Given the description of an element on the screen output the (x, y) to click on. 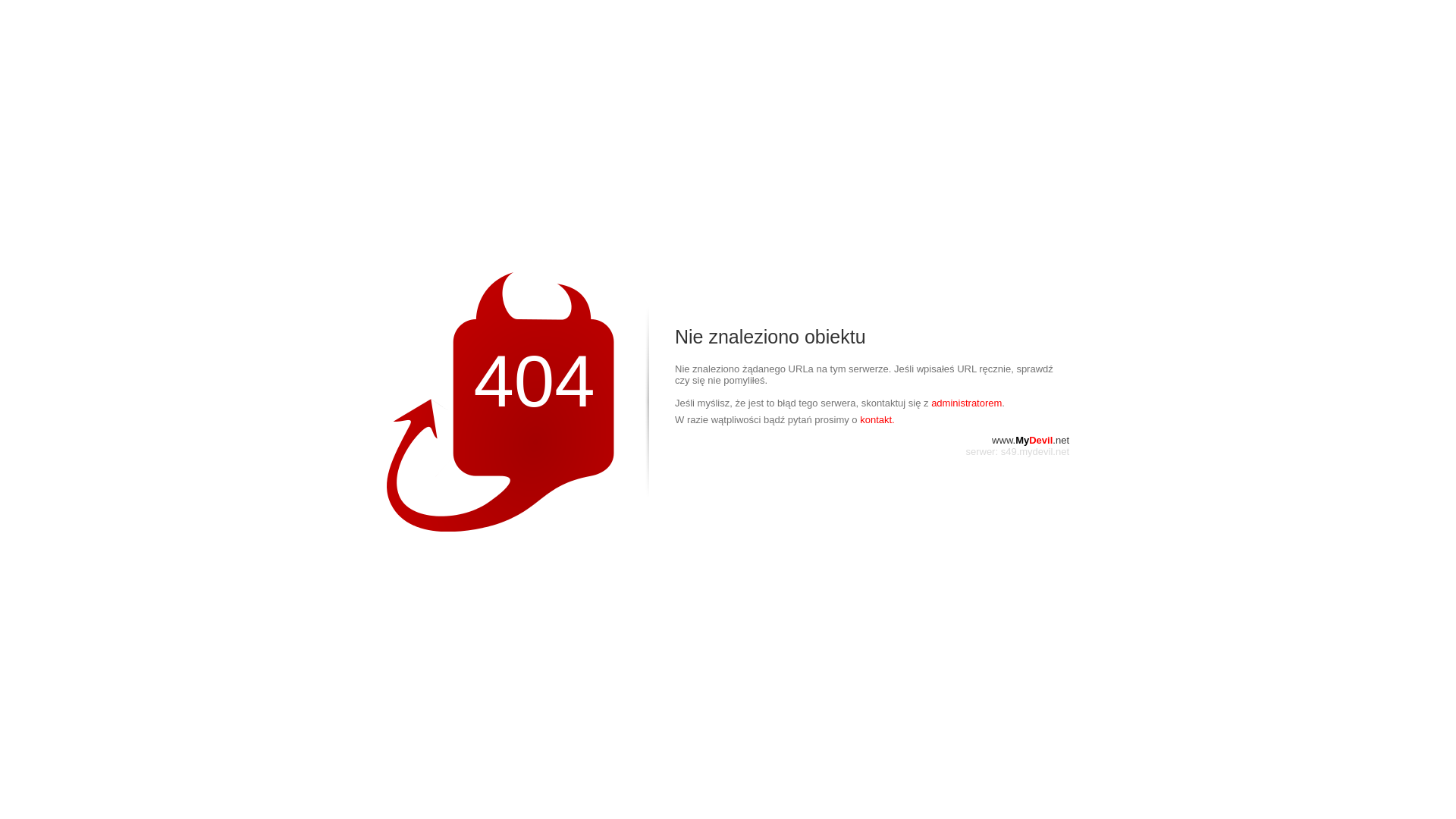
kontakt. Element type: text (876, 419)
www.MyDevil.net Element type: text (1030, 439)
administratorem Element type: text (966, 402)
